Given the description of an element on the screen output the (x, y) to click on. 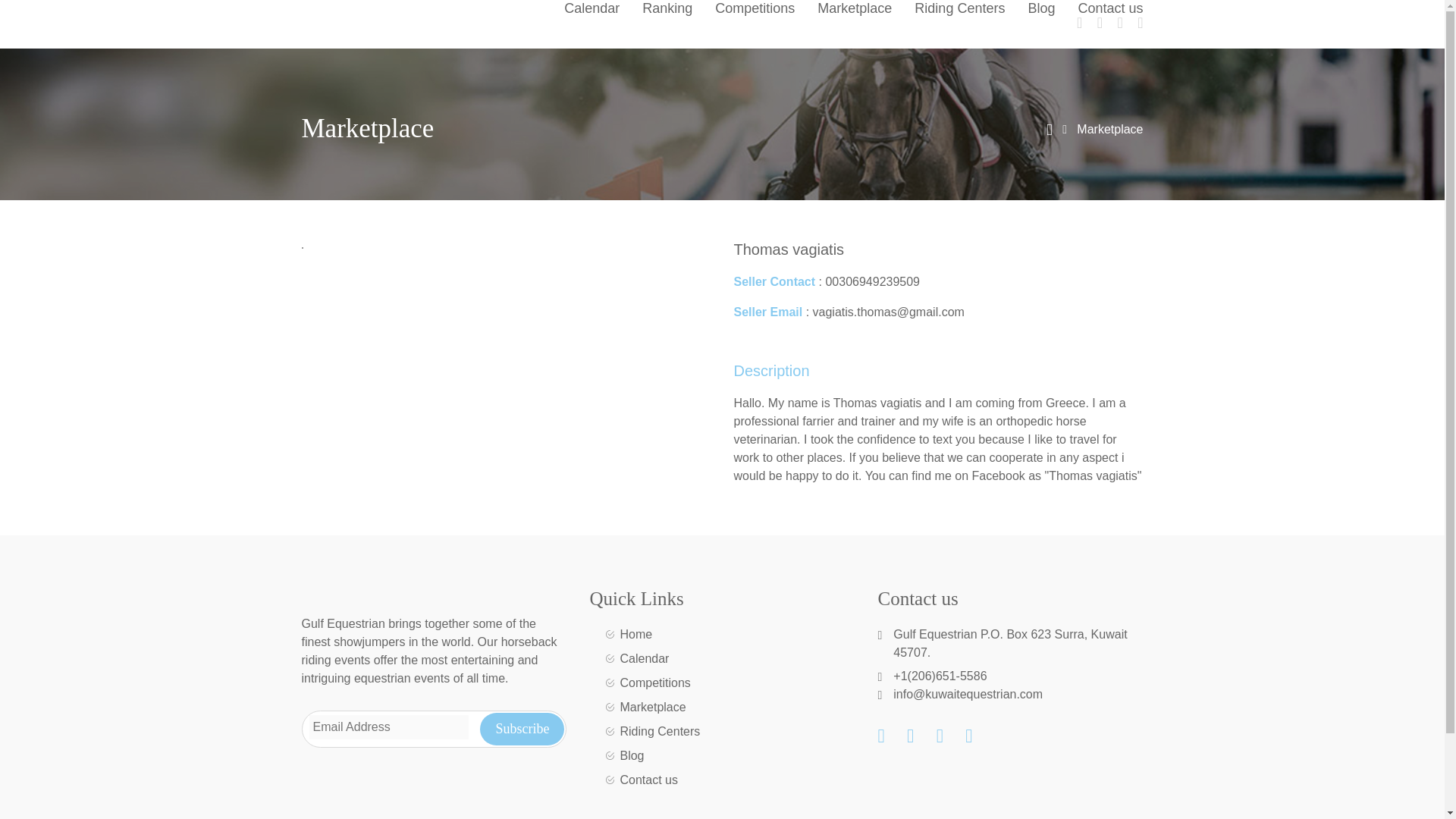
Contact us (1103, 12)
Marketplace (854, 12)
Riding Centers (959, 12)
Calendar (591, 12)
Ranking (666, 12)
Competitions (754, 12)
Blog (1040, 12)
